Given the description of an element on the screen output the (x, y) to click on. 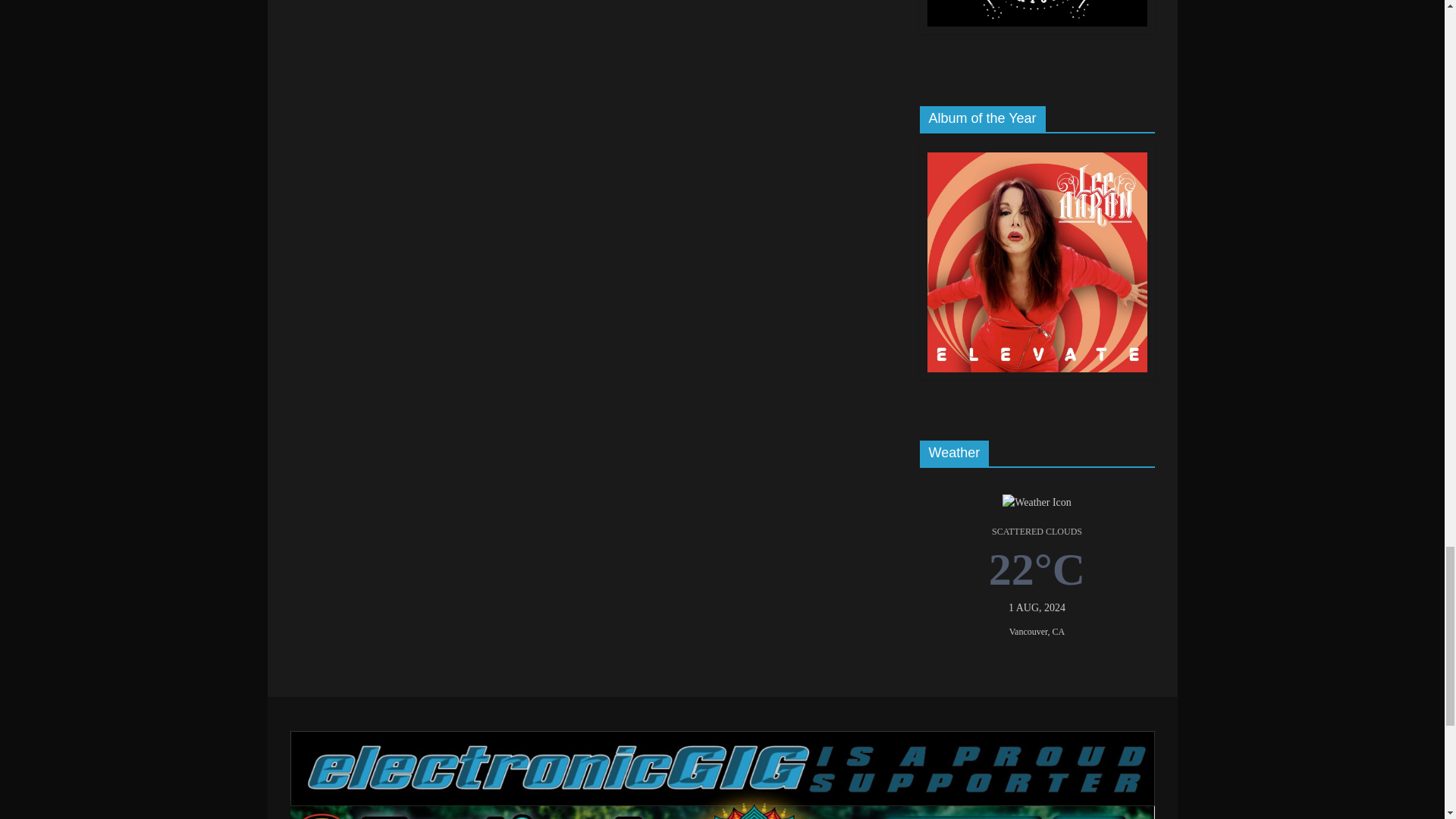
vfmf footer ad (721, 775)
